Given the description of an element on the screen output the (x, y) to click on. 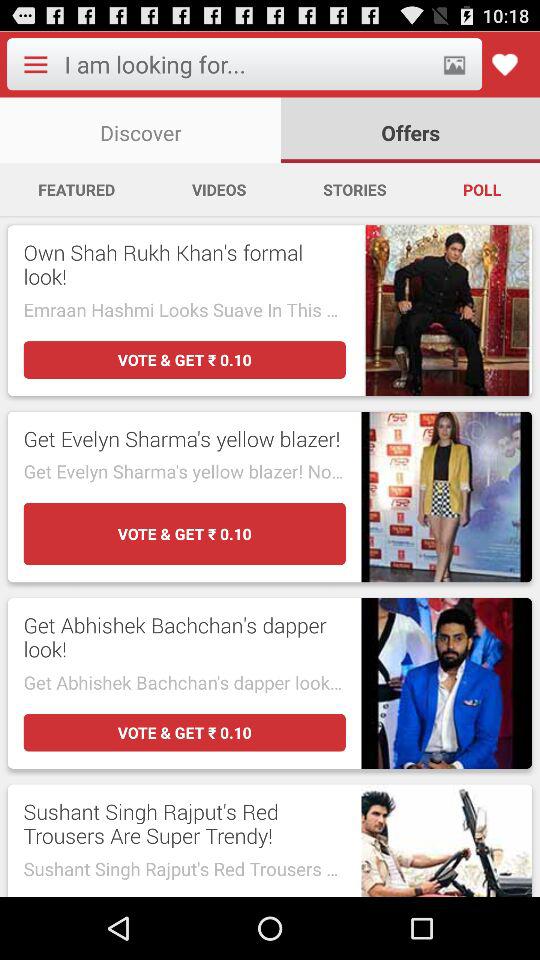
go to menu (35, 64)
